Given the description of an element on the screen output the (x, y) to click on. 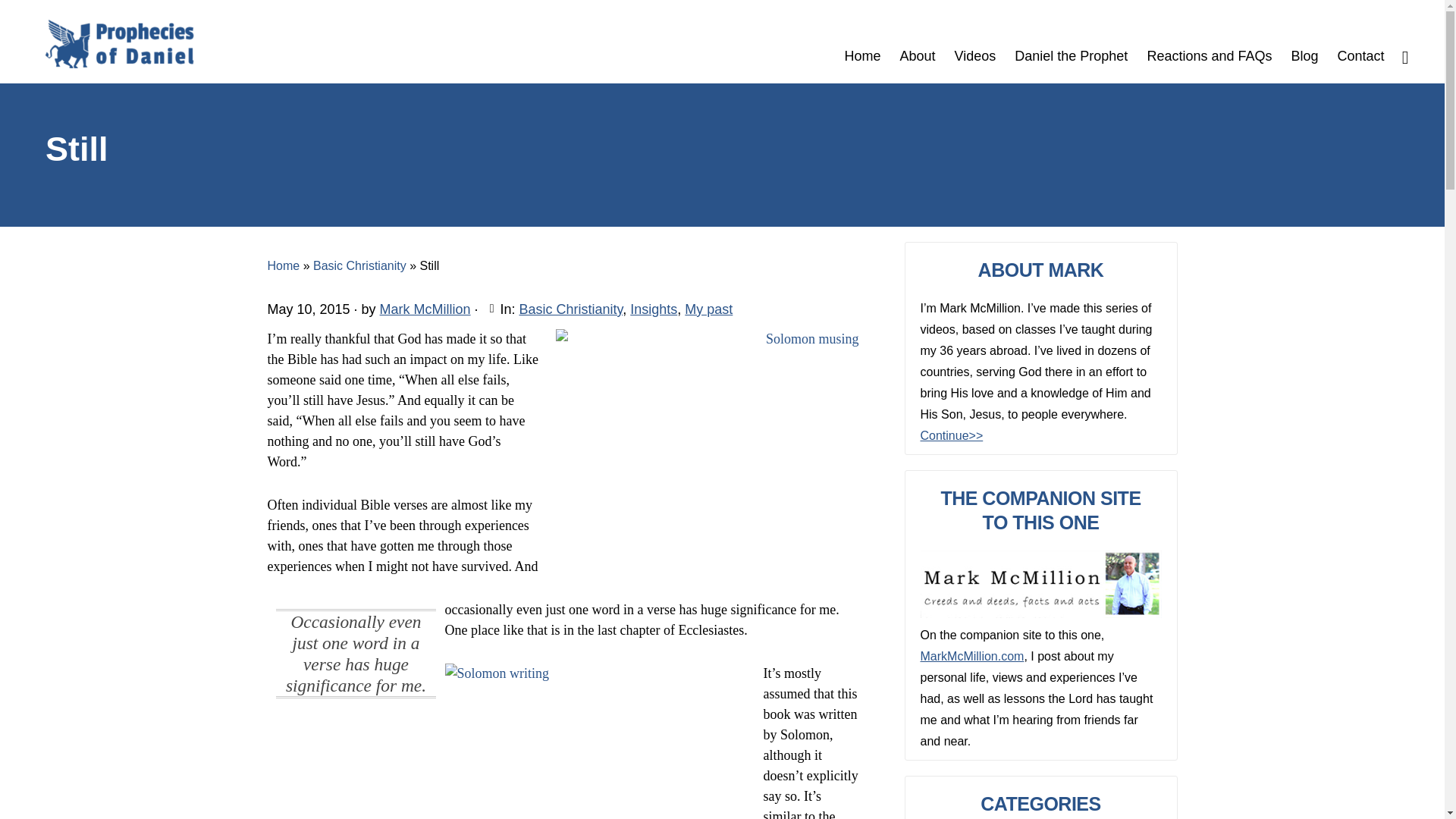
About (916, 42)
PROPHECIES OF DANIEL (119, 43)
Videos (975, 42)
Home (861, 42)
